Given the description of an element on the screen output the (x, y) to click on. 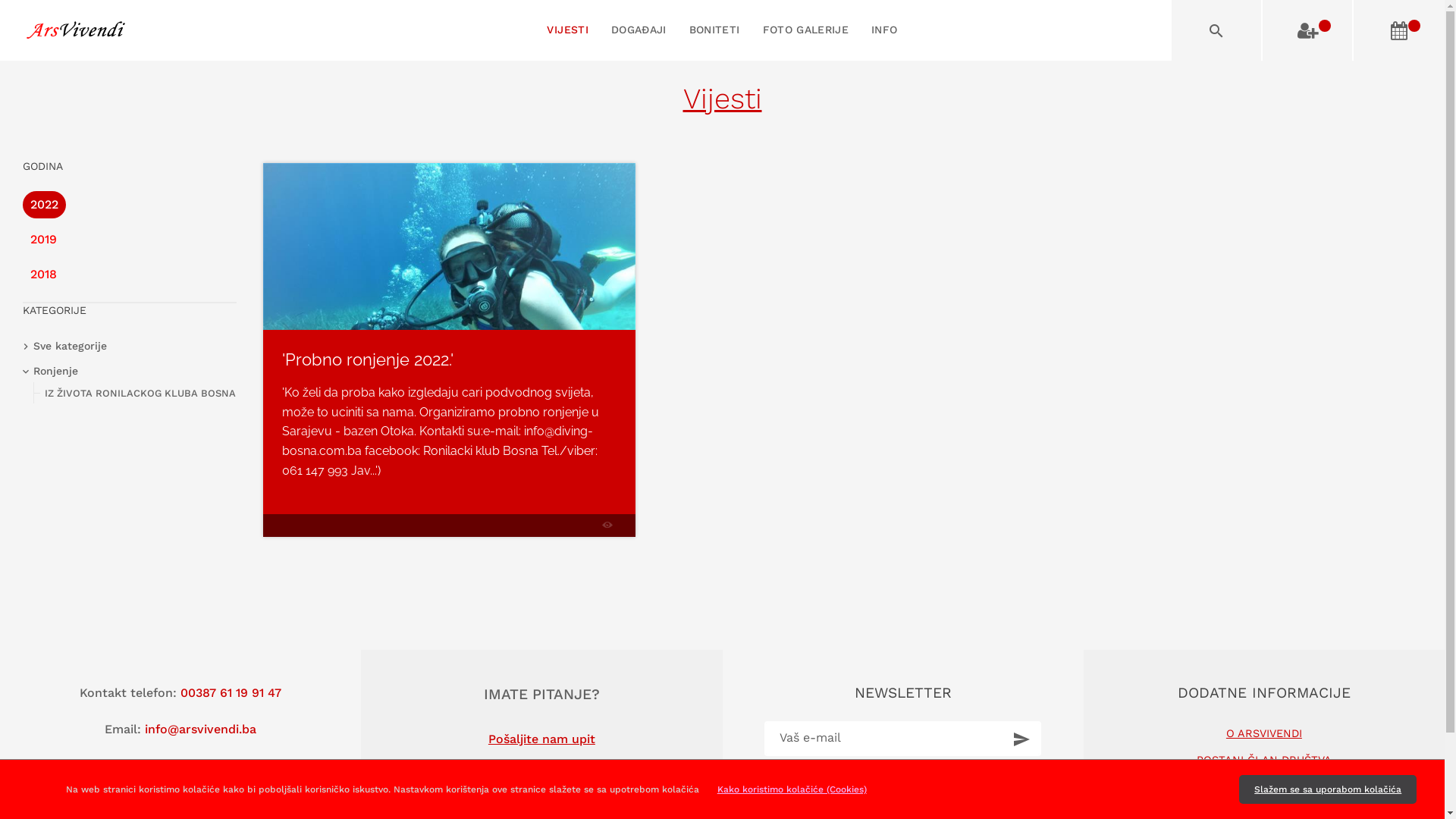
VIJESTI Element type: text (567, 30)
Sve kategorije Element type: text (69, 345)
Vijesti Element type: text (721, 98)
BONITETI Element type: text (714, 30)
O ARSVIVENDI Element type: text (1263, 733)
FOTO GALERIJE Element type: text (805, 30)
2022 Element type: text (27, 195)
2018 Element type: text (27, 265)
2019 Element type: text (27, 230)
Ronjenje Element type: text (55, 370)
INFO Element type: text (883, 30)
